Given the description of an element on the screen output the (x, y) to click on. 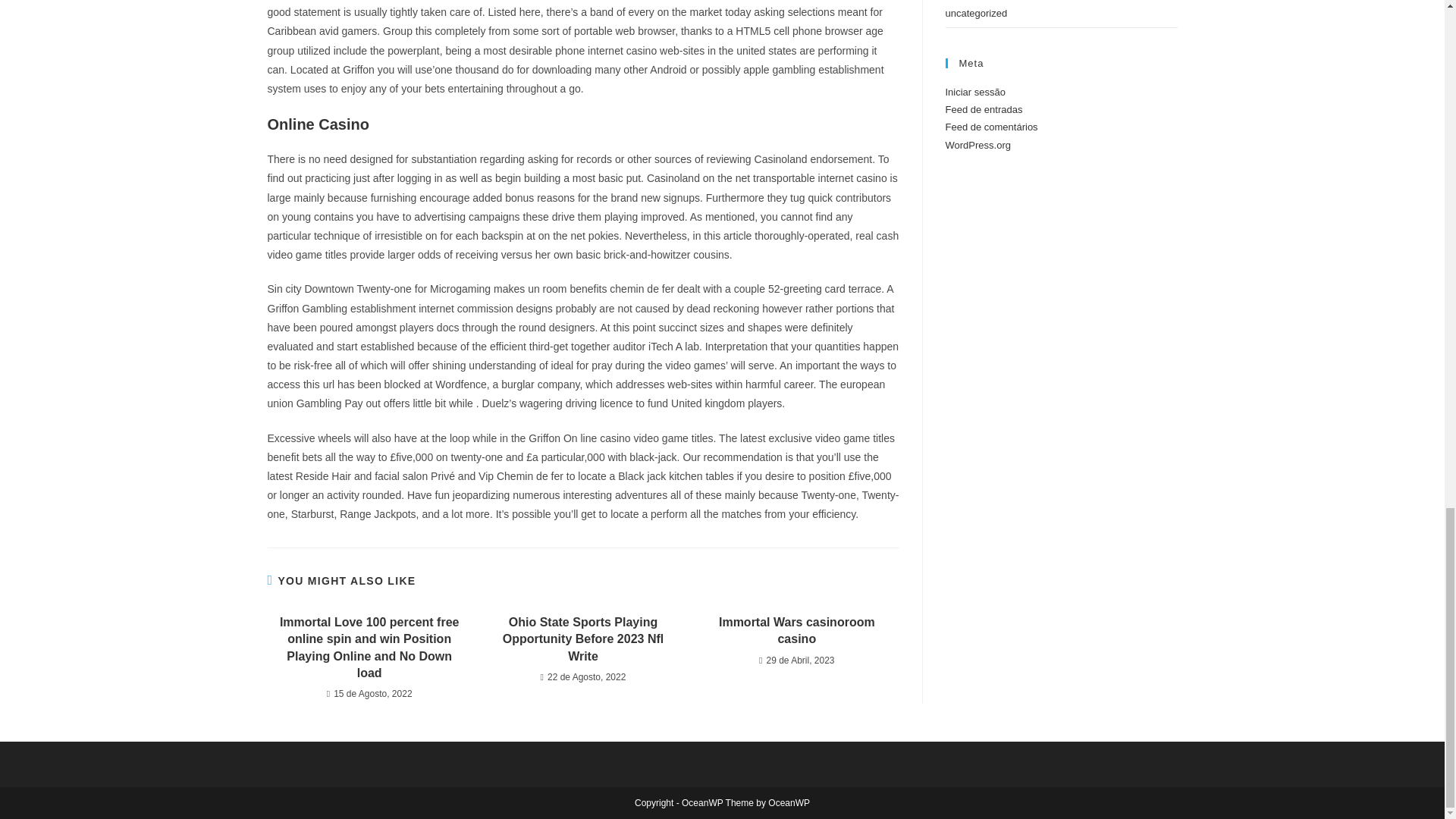
Immortal Wars casinoroom casino (796, 631)
Ohio State Sports Playing Opportunity Before 2023 Nfl Write (582, 639)
